Given the description of an element on the screen output the (x, y) to click on. 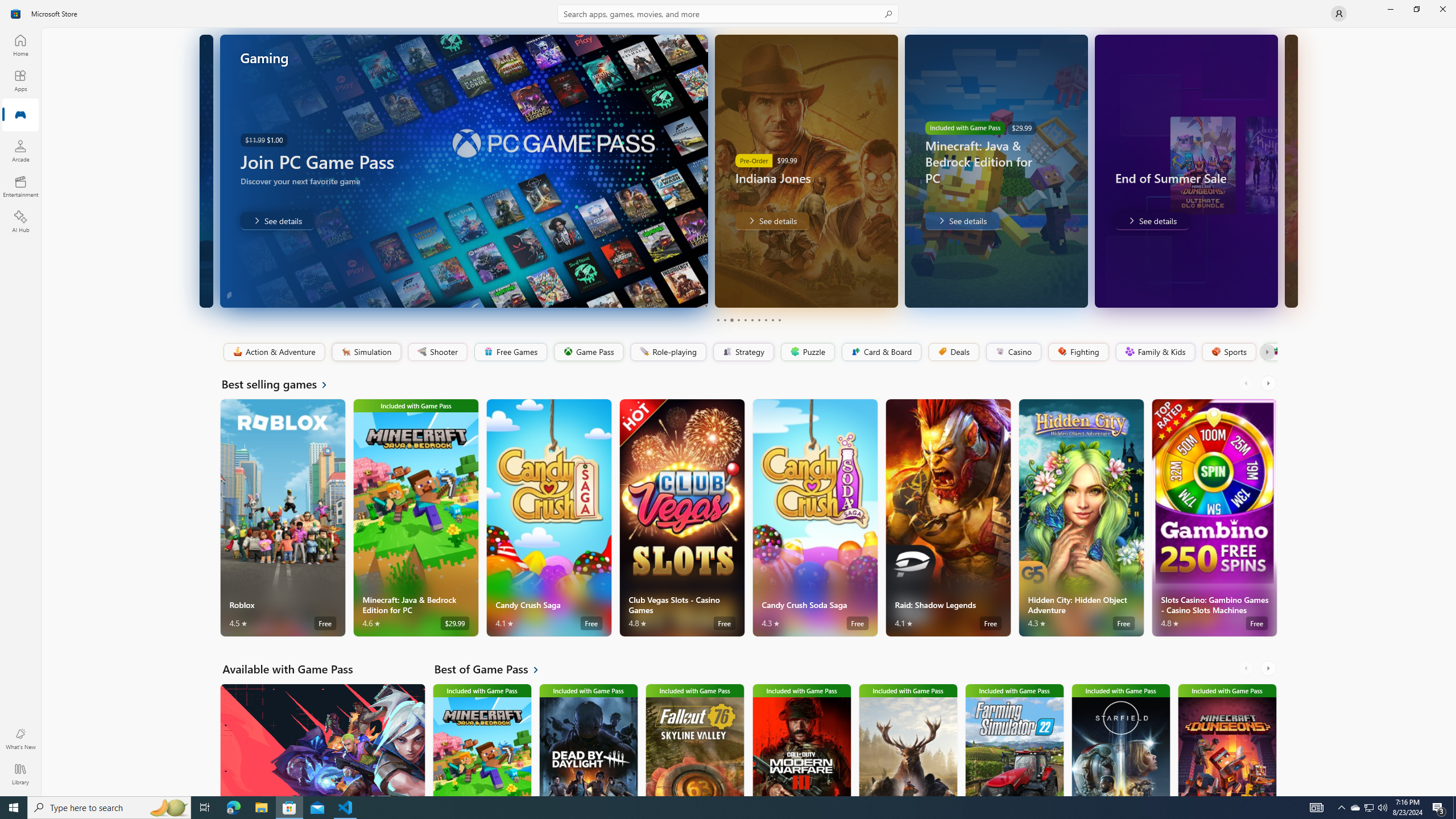
Action & Adventure (273, 352)
Card & Board (880, 352)
AutomationID: LeftScrollButton (1246, 668)
End of Summer Sale. Save up to 80%.  . See details (1151, 221)
See all  Best selling games (280, 383)
Casino (1013, 352)
Class: Button (1266, 351)
Page 3 (731, 319)
Puzzle (807, 352)
